Given the description of an element on the screen output the (x, y) to click on. 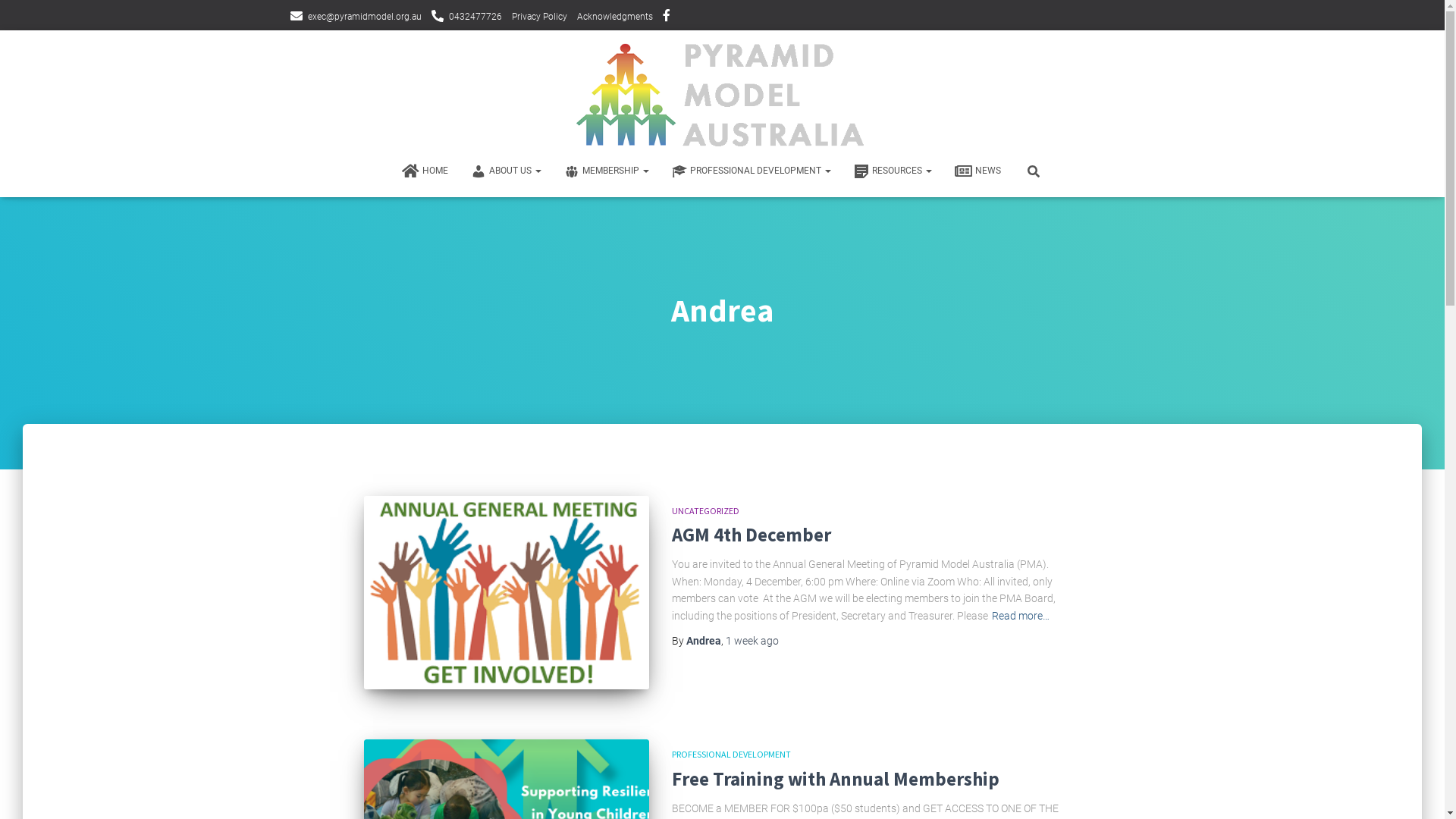
AGM 4th December Element type: hover (506, 592)
1 week ago Element type: text (751, 640)
PROFESSIONAL DEVELOPMENT Element type: text (730, 753)
PROFESSIONAL DEVELOPMENT Element type: text (751, 170)
Pyramid Model Australia Element type: hover (722, 94)
HOME Element type: text (424, 170)
exec@pyramidmodel.org.au Element type: text (354, 16)
Free Training with Annual Membership Element type: text (835, 778)
Facebook Element type: text (666, 17)
AGM 4th December Element type: text (751, 534)
RESOURCES Element type: text (892, 170)
Acknowledgments Element type: text (614, 16)
0432477726 Element type: text (465, 16)
Search Element type: text (3, 16)
NEWS Element type: text (977, 170)
UNCATEGORIZED Element type: text (705, 510)
MEMBERSHIP Element type: text (606, 170)
Andrea Element type: text (703, 640)
ABOUT US Element type: text (505, 170)
Privacy Policy Element type: text (538, 16)
